Given the description of an element on the screen output the (x, y) to click on. 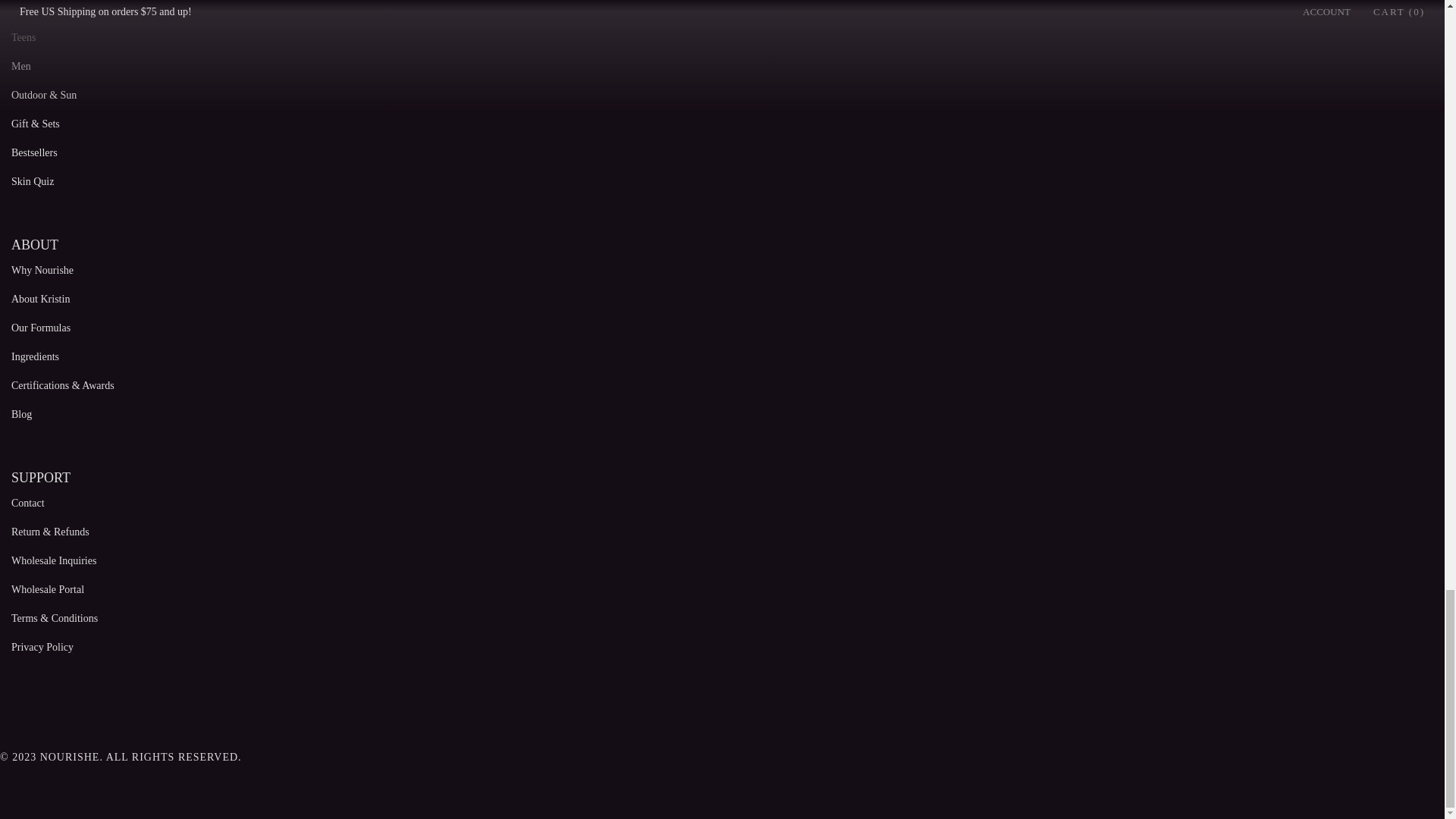
Bestsellers (34, 152)
About Kristin (40, 298)
Wholesale Portal (47, 589)
Privacy Policy (42, 646)
Men (20, 66)
Our Formulas (40, 327)
Contact (28, 502)
Ingredients (35, 356)
Skin Quiz (32, 181)
Why Nourishe (42, 270)
Teens (22, 37)
Luxury Skincare (46, 8)
Blog (21, 414)
Wholesale Inquiries (53, 560)
